Given the description of an element on the screen output the (x, y) to click on. 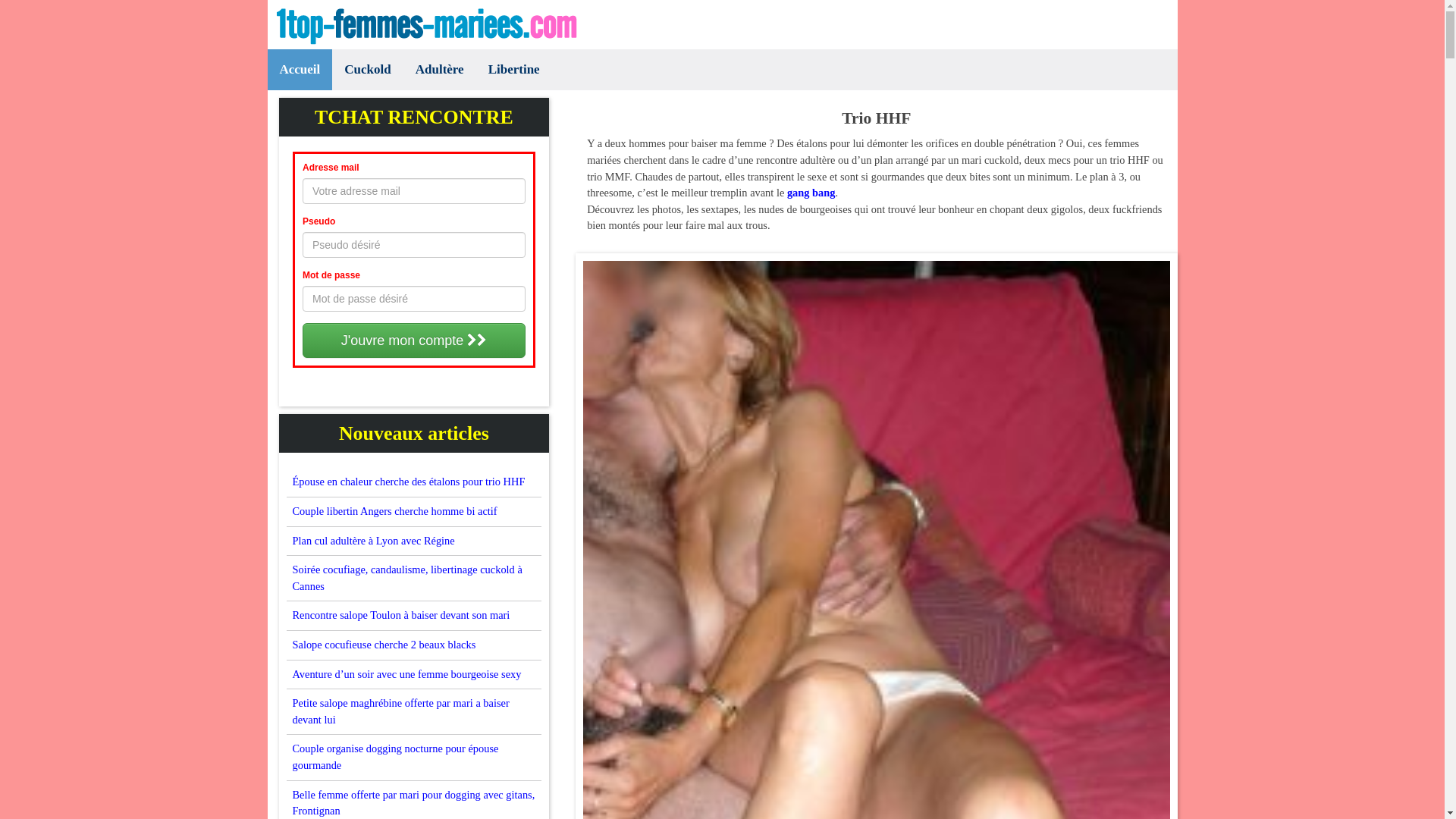
Salope cocufieuse cherche 2 beaux blacks Element type: text (384, 644)
Couple libertin Angers cherche homme bi actif Element type: text (394, 511)
Accueil Element type: text (299, 69)
gang bang Element type: text (811, 192)
Cuckold Element type: text (367, 69)
Libertine Element type: text (514, 69)
